Given the description of an element on the screen output the (x, y) to click on. 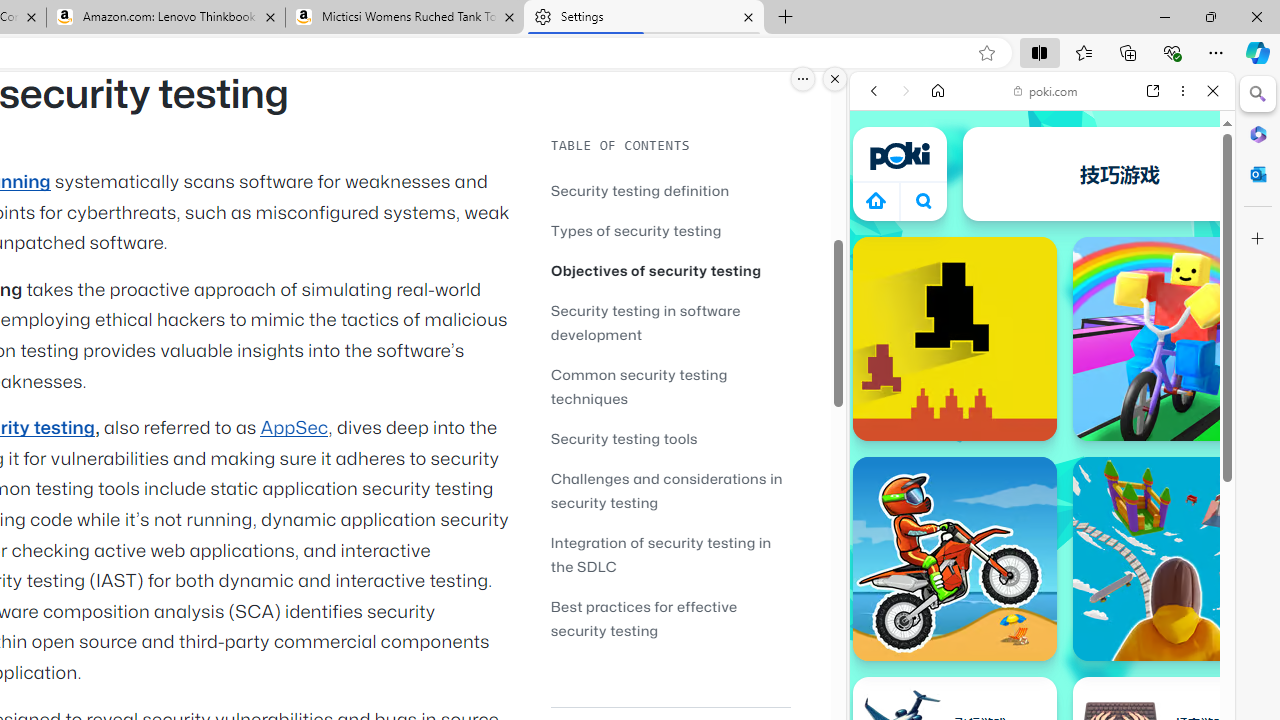
Search the web (1051, 137)
Class: b_serphb (1190, 229)
Class: aprWdaSScyiJf4Jvmsx9 (875, 200)
Common security testing techniques (639, 385)
Car Games (1042, 470)
Minimize (1164, 16)
